Given the description of an element on the screen output the (x, y) to click on. 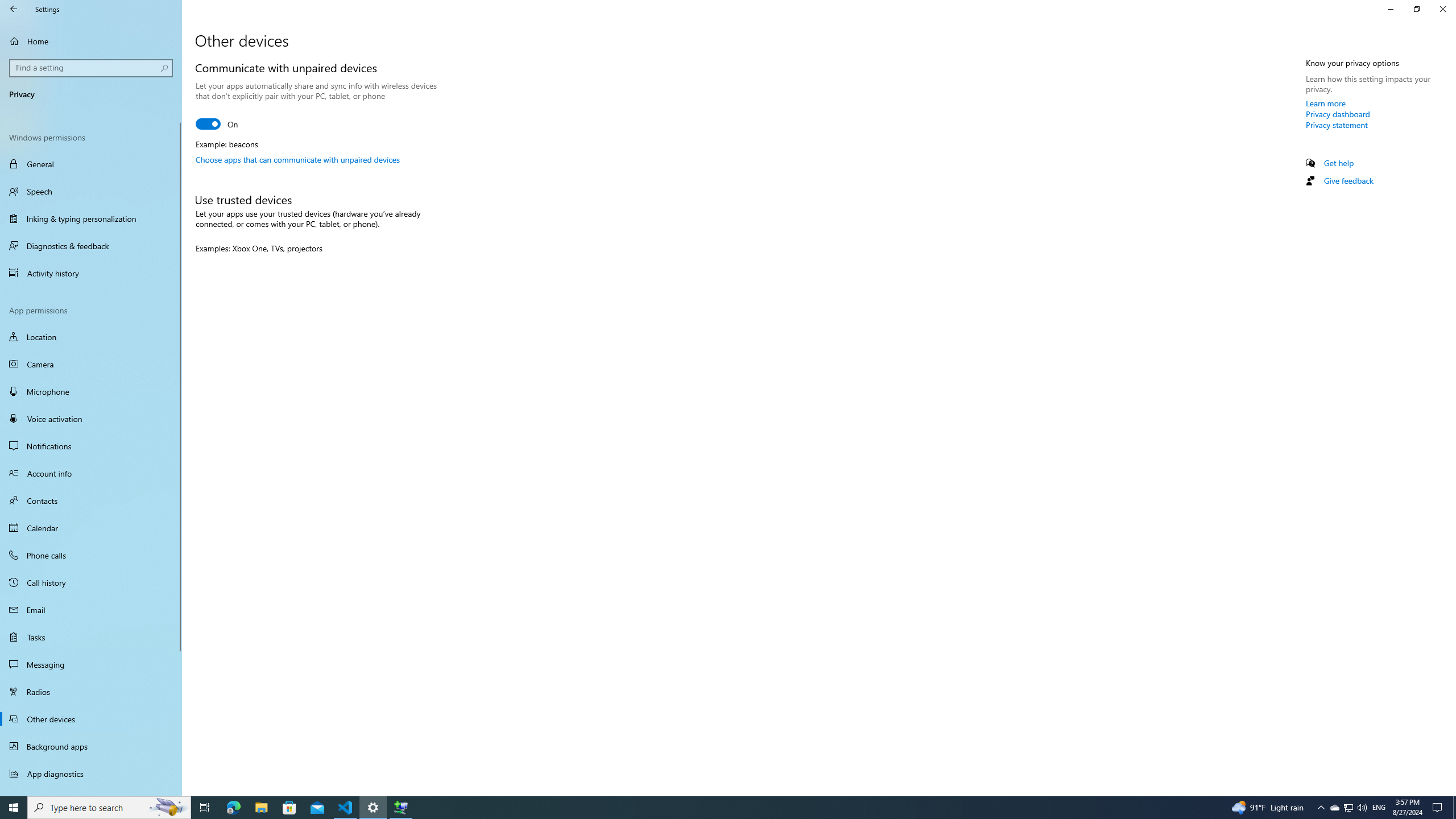
Running applications (706, 807)
Inking & typing personalization (91, 217)
Camera (91, 363)
Give feedback (1348, 180)
Back (13, 9)
Account info (91, 472)
Privacy statement (1336, 124)
Extensible Wizards Host Process - 1 running window (400, 807)
Voice activation (91, 418)
General (91, 163)
Communicate with unpaired devices (216, 123)
Speech (91, 190)
App diagnostics (91, 773)
